Given the description of an element on the screen output the (x, y) to click on. 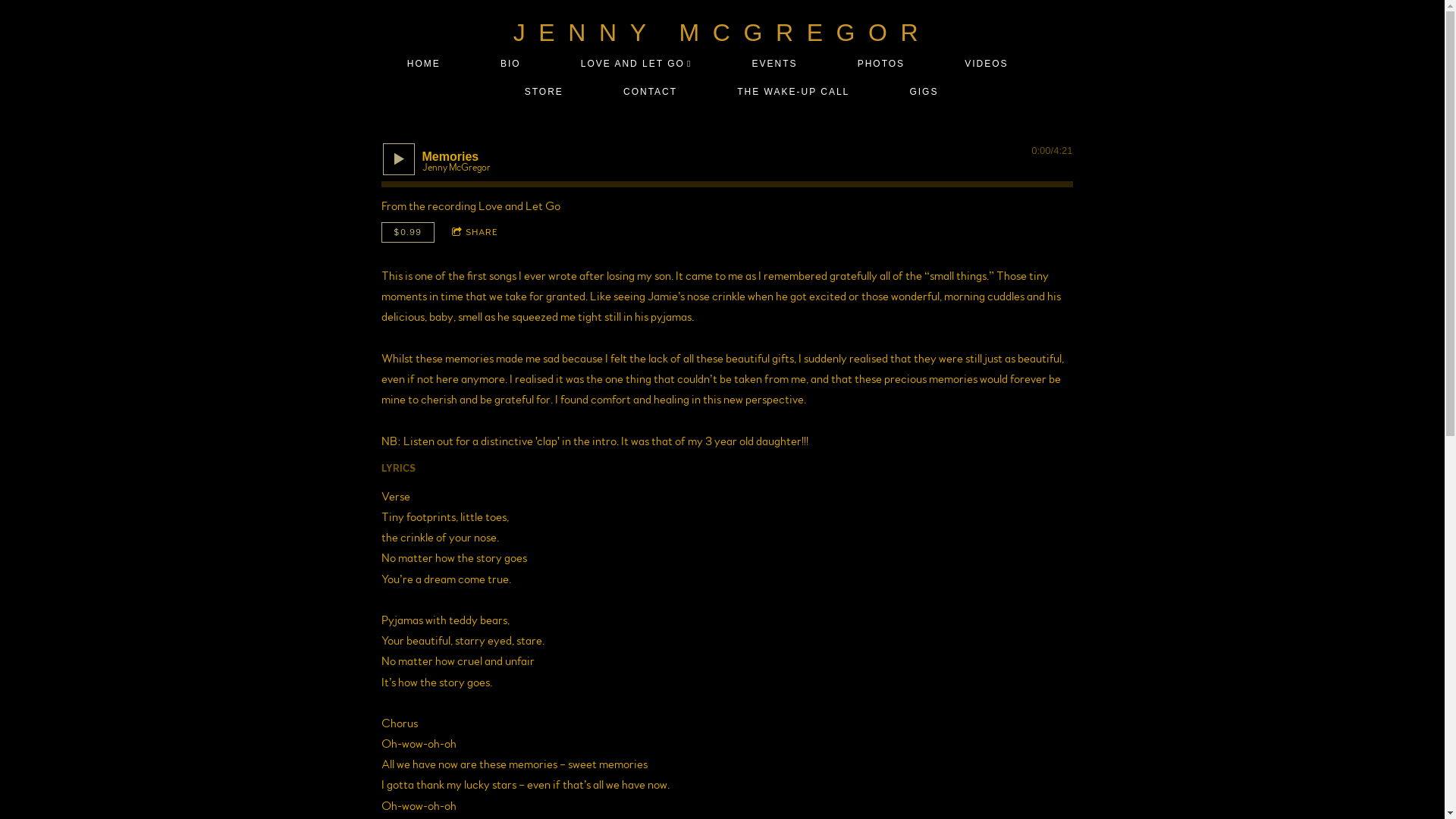
GIGS Element type: text (923, 92)
EVENTS Element type: text (774, 64)
JENNY MCGREGOR Element type: text (722, 32)
Love and Let Go Element type: text (518, 206)
HOME Element type: text (423, 64)
$0.99 Element type: text (406, 232)
CONTACT Element type: text (650, 92)
Play Element type: hover (398, 159)
LOVE AND LET GO Element type: text (635, 64)
BIO Element type: text (510, 64)
STORE Element type: text (543, 92)
VIDEOS Element type: text (986, 64)
SHARE Element type: text (474, 231)
THE WAKE-UP CALL Element type: text (793, 92)
PHOTOS Element type: text (880, 64)
